Given the description of an element on the screen output the (x, y) to click on. 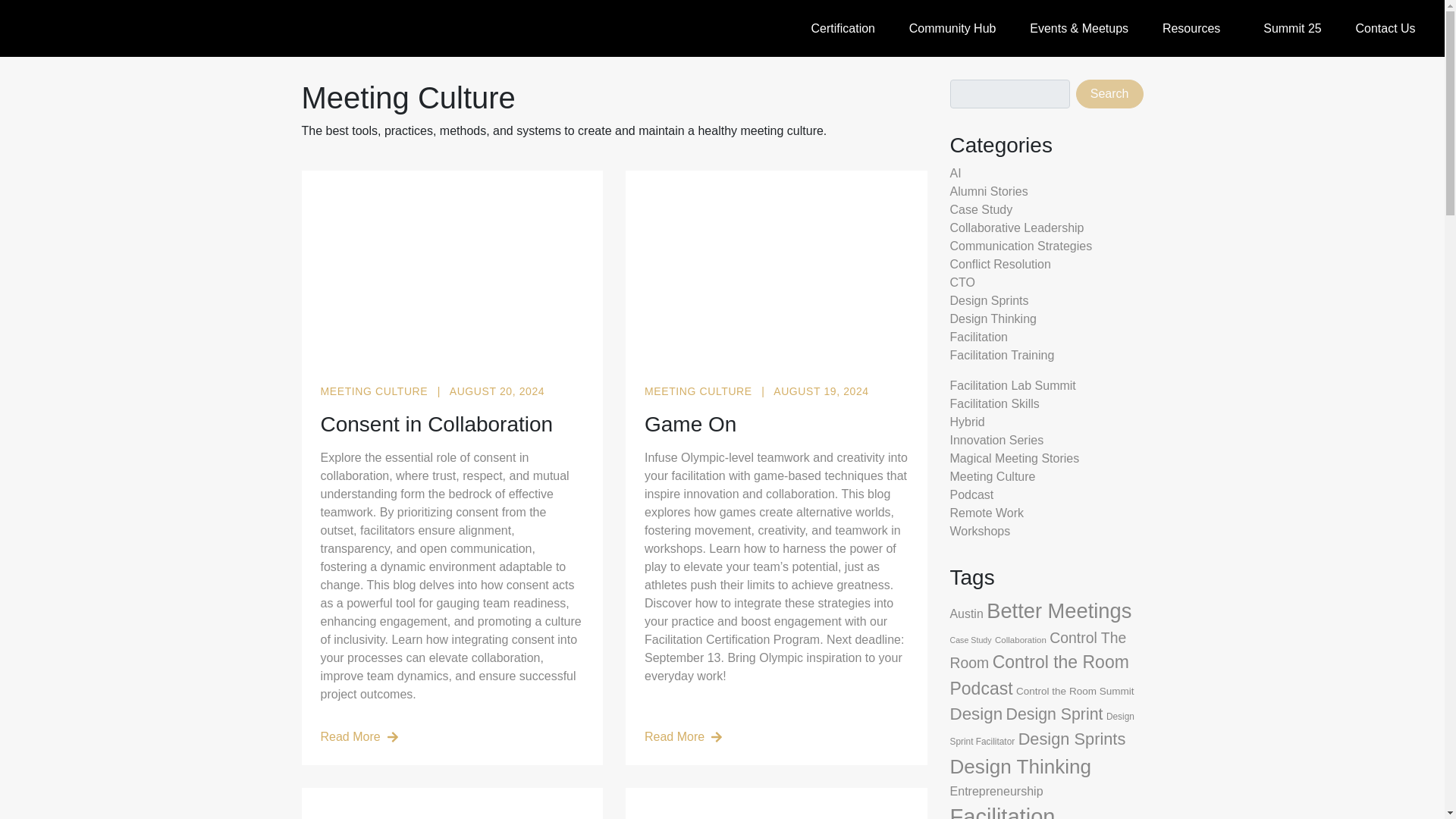
Game On (776, 424)
Read More (451, 737)
MEETING CULTURE (700, 390)
Read More (776, 737)
Certification (842, 28)
Summit 25 (1292, 28)
Community Hub (951, 28)
Contact Us (1385, 28)
Certification (842, 28)
Community Hub (951, 28)
